Given the description of an element on the screen output the (x, y) to click on. 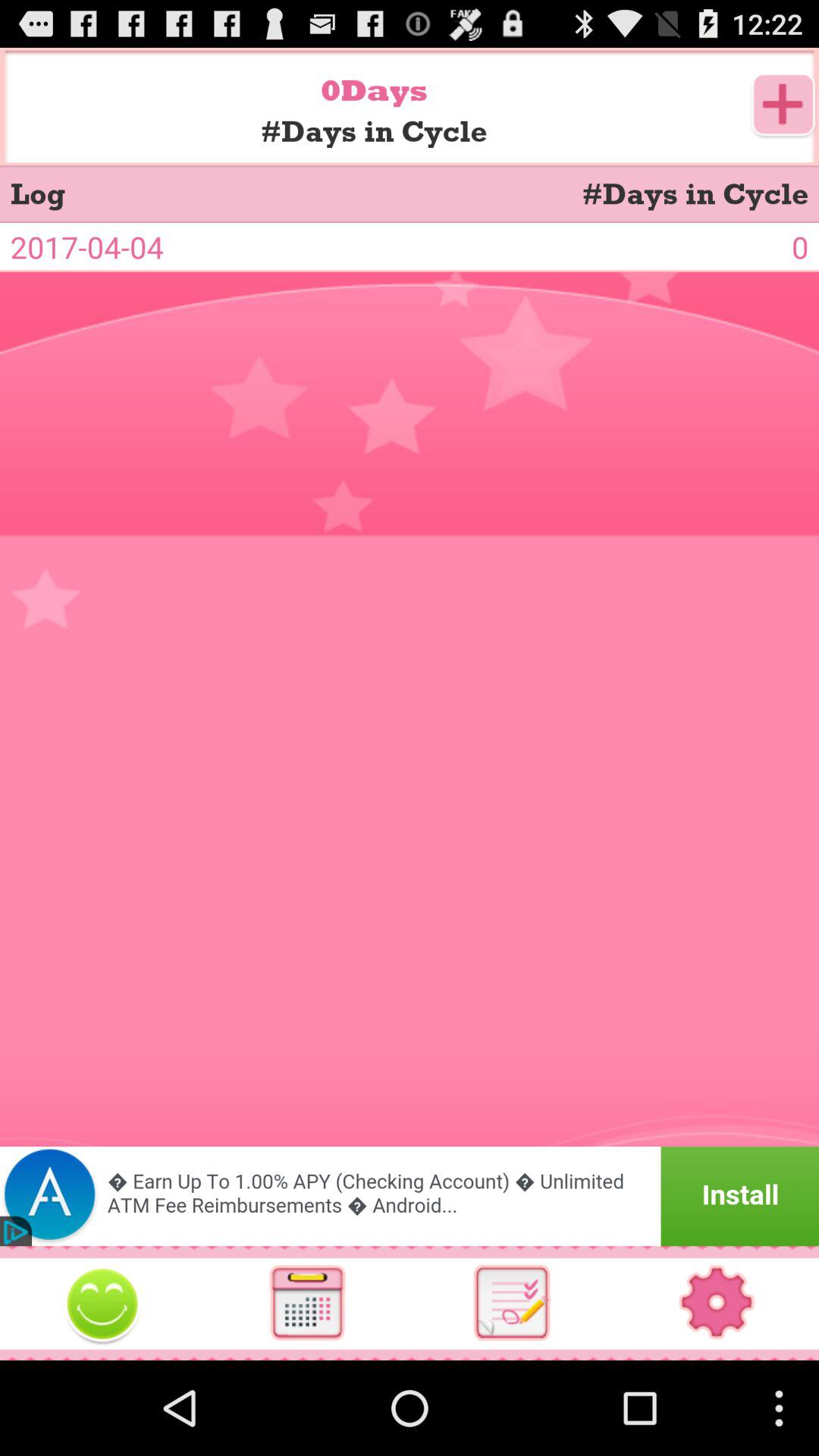
select smile botton (102, 1302)
